Given the description of an element on the screen output the (x, y) to click on. 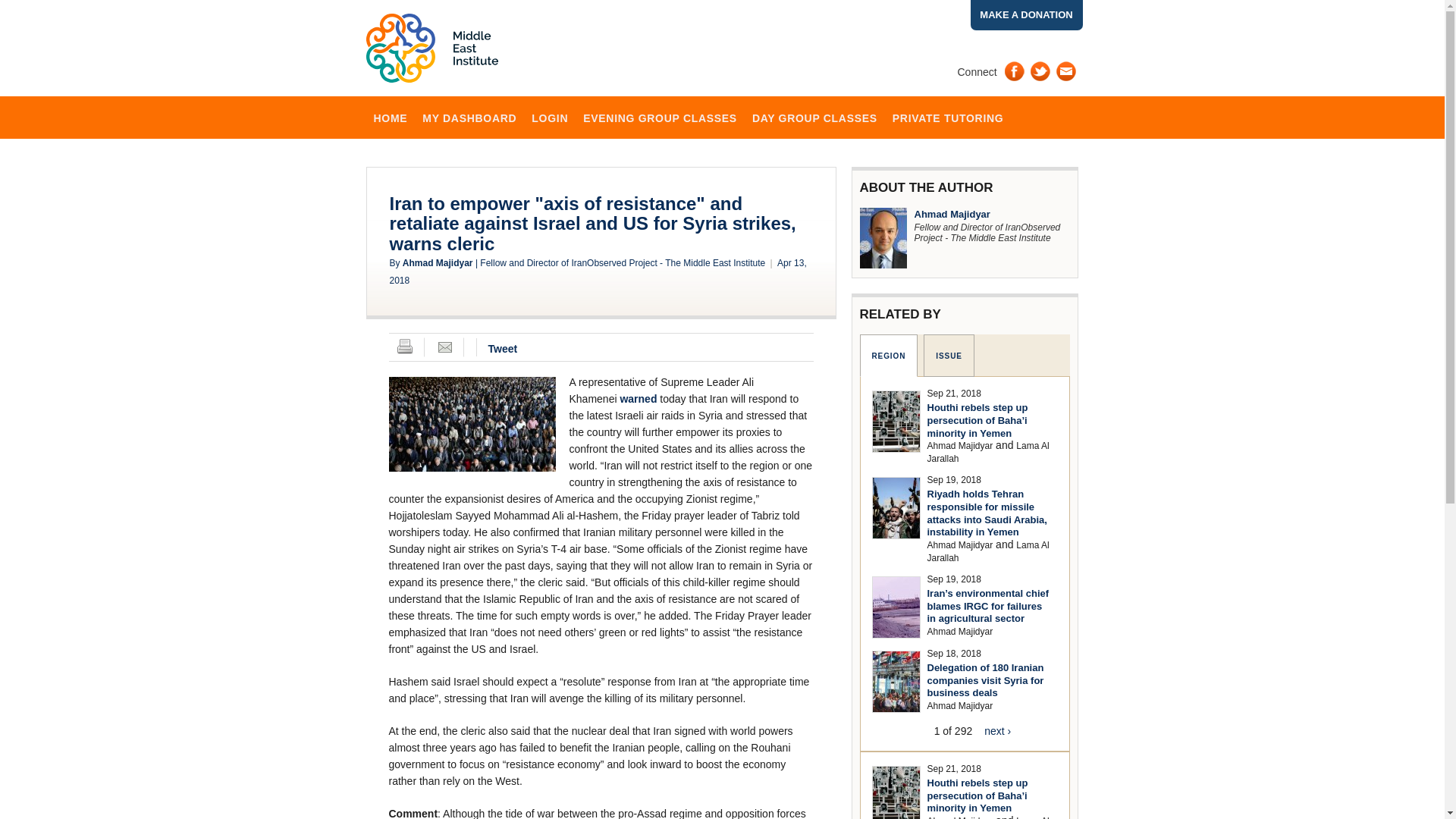
facebook (1014, 71)
twitter (1039, 71)
newsletter (1066, 71)
RSS (966, 90)
PRIVATE TUTORING (948, 117)
EVENING GROUP CLASSES (659, 117)
LOGIN (549, 117)
HOME (389, 117)
MY DASHBOARD (469, 117)
MAKE A DONATION (1027, 15)
